Given the description of an element on the screen output the (x, y) to click on. 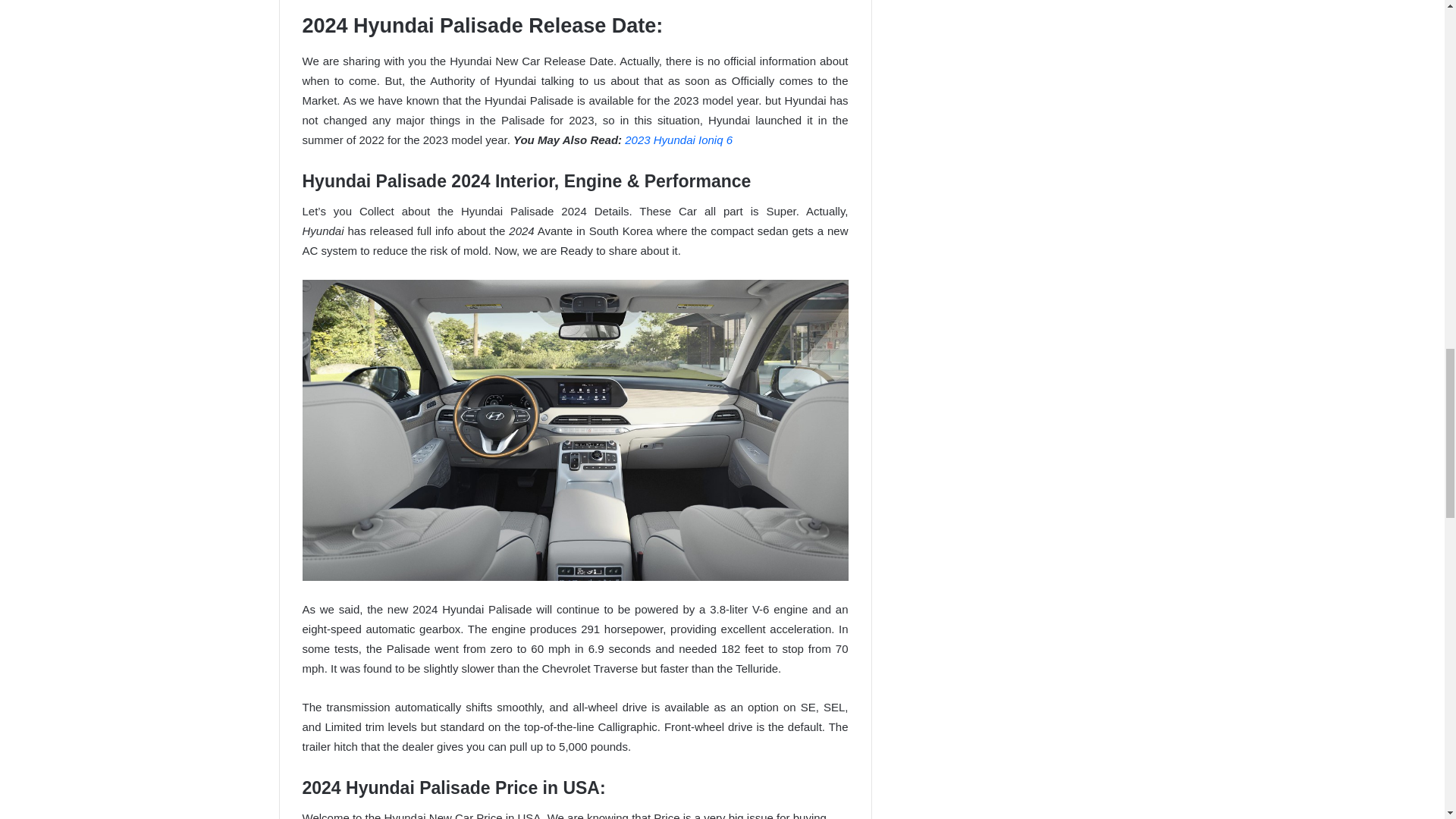
2023 Hyundai Ioniq 6 (678, 139)
